Given the description of an element on the screen output the (x, y) to click on. 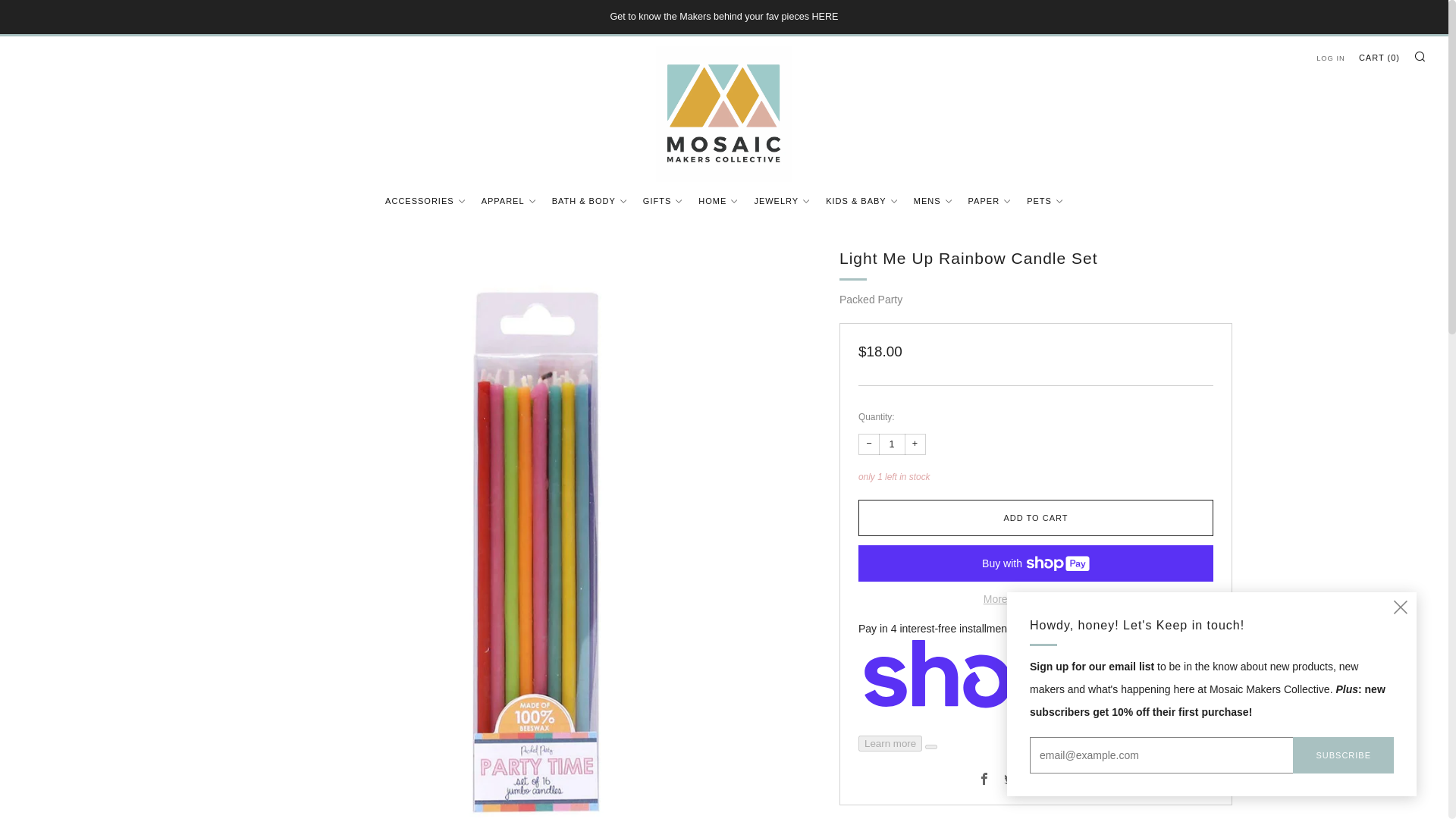
1 (892, 444)
